Given the description of an element on the screen output the (x, y) to click on. 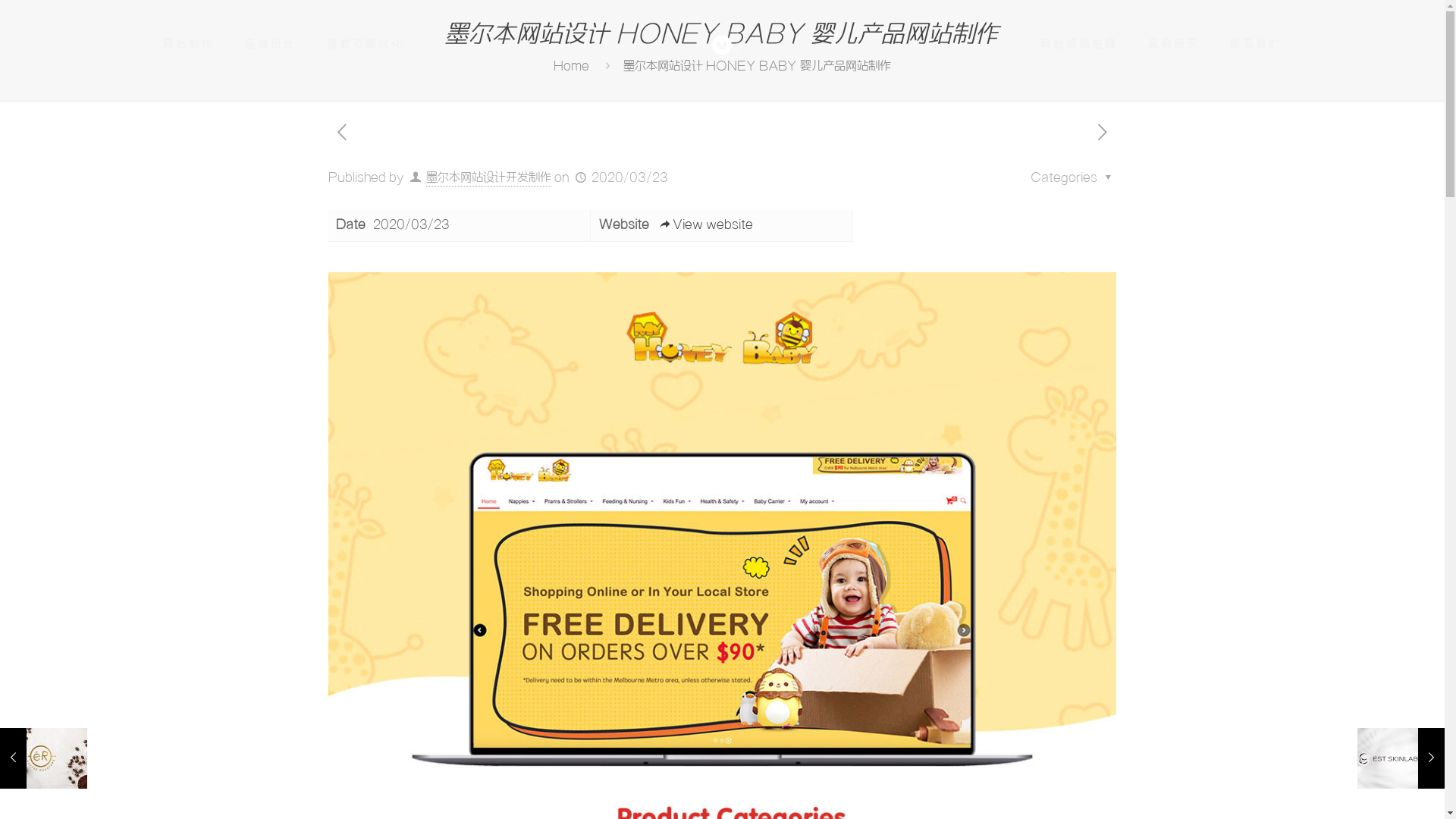
Home Element type: text (571, 66)
View website Element type: text (704, 224)
